Given the description of an element on the screen output the (x, y) to click on. 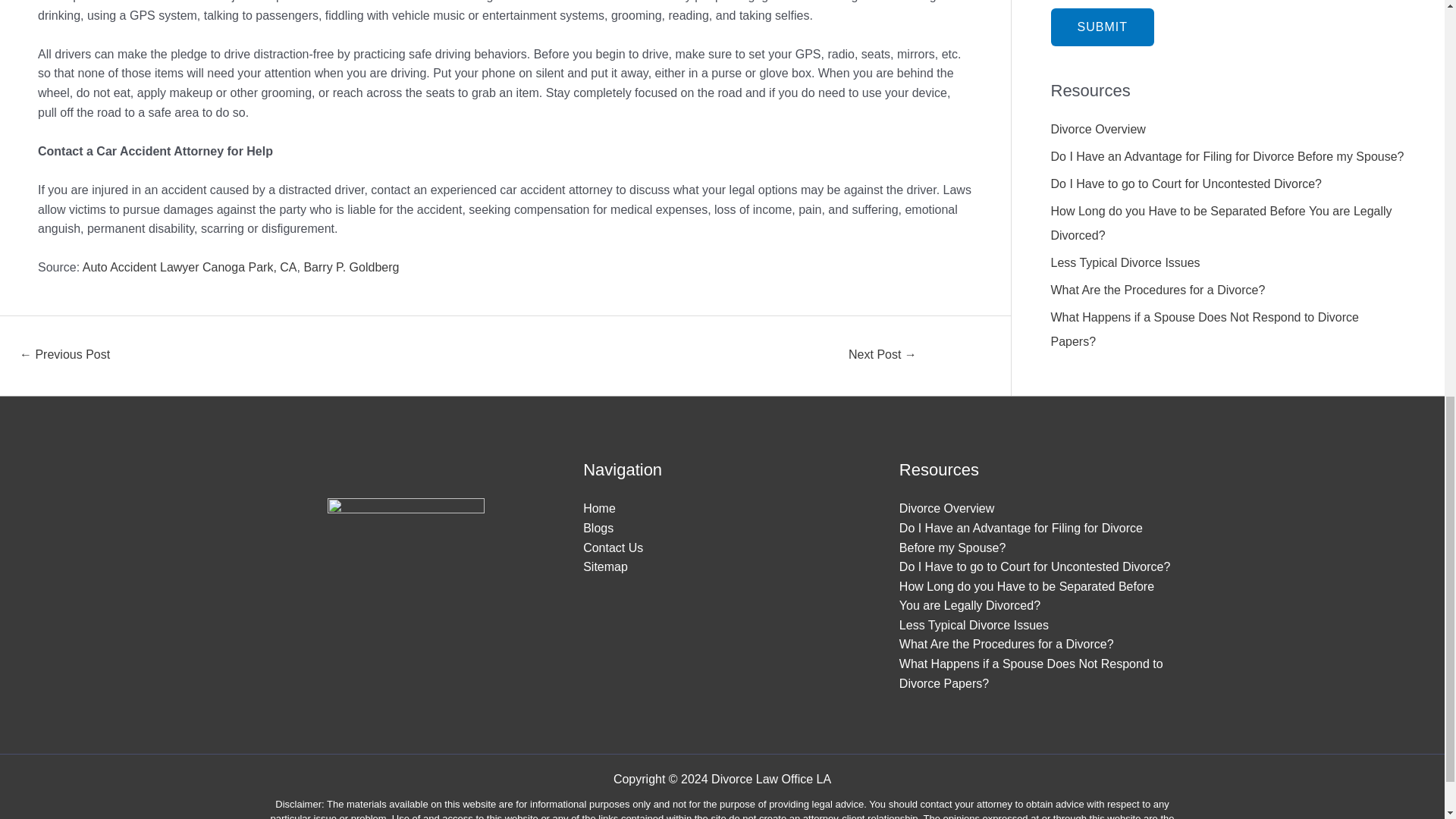
Do I Have to go to Court for Uncontested Divorce? (1186, 183)
Contact Us (613, 547)
Most Dangerous Dogs (882, 356)
Barry P. Goldberg (350, 267)
Divorce Overview (946, 508)
What Happens if a Spouse Does Not Respond to Divorce Papers? (1031, 673)
What Are the Procedures for a Divorce? (1158, 289)
Less Typical Divorce Issues (1125, 262)
